Given the description of an element on the screen output the (x, y) to click on. 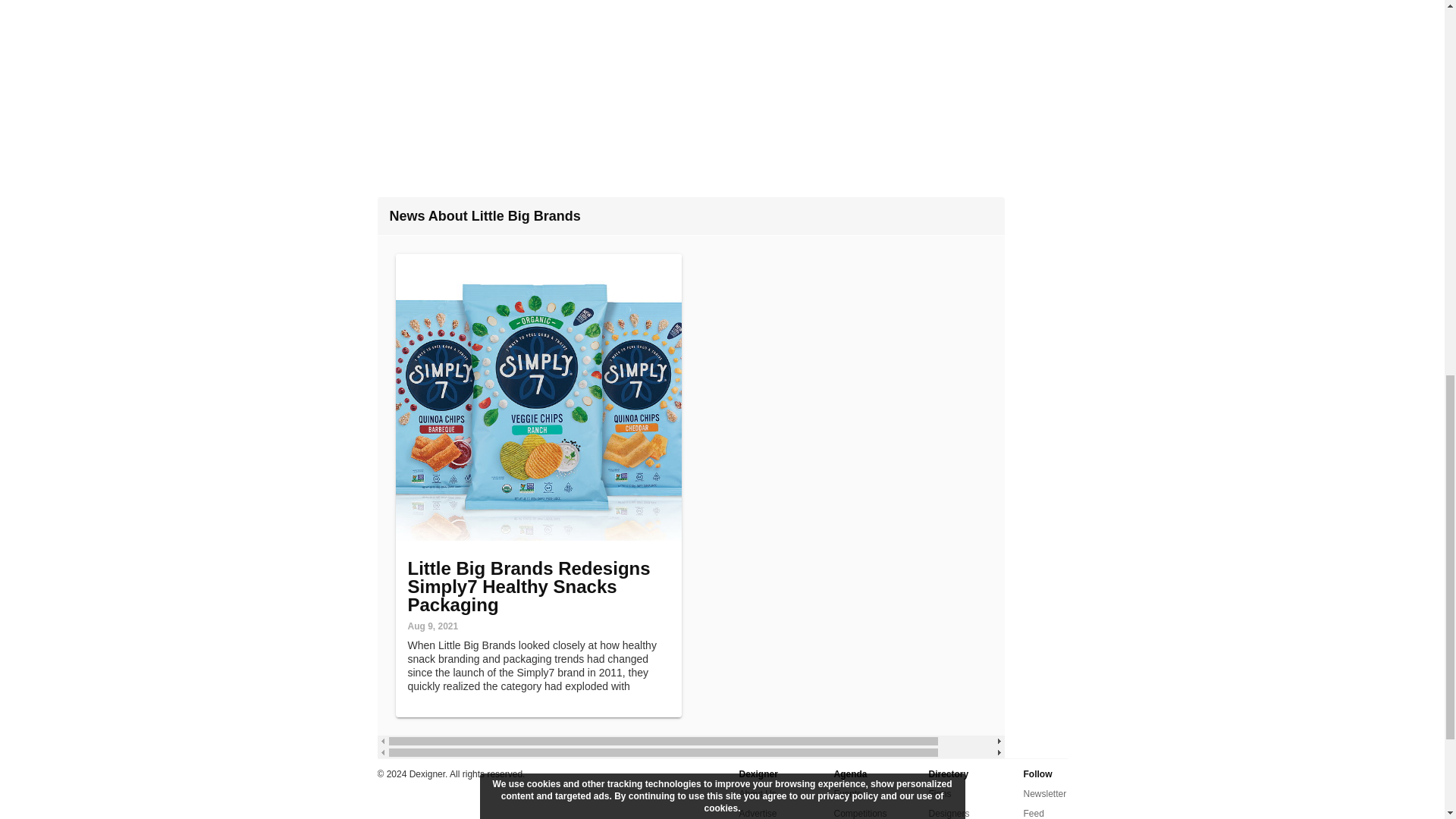
Advertise (757, 811)
Advertisement (722, 84)
About Us (757, 793)
